Given the description of an element on the screen output the (x, y) to click on. 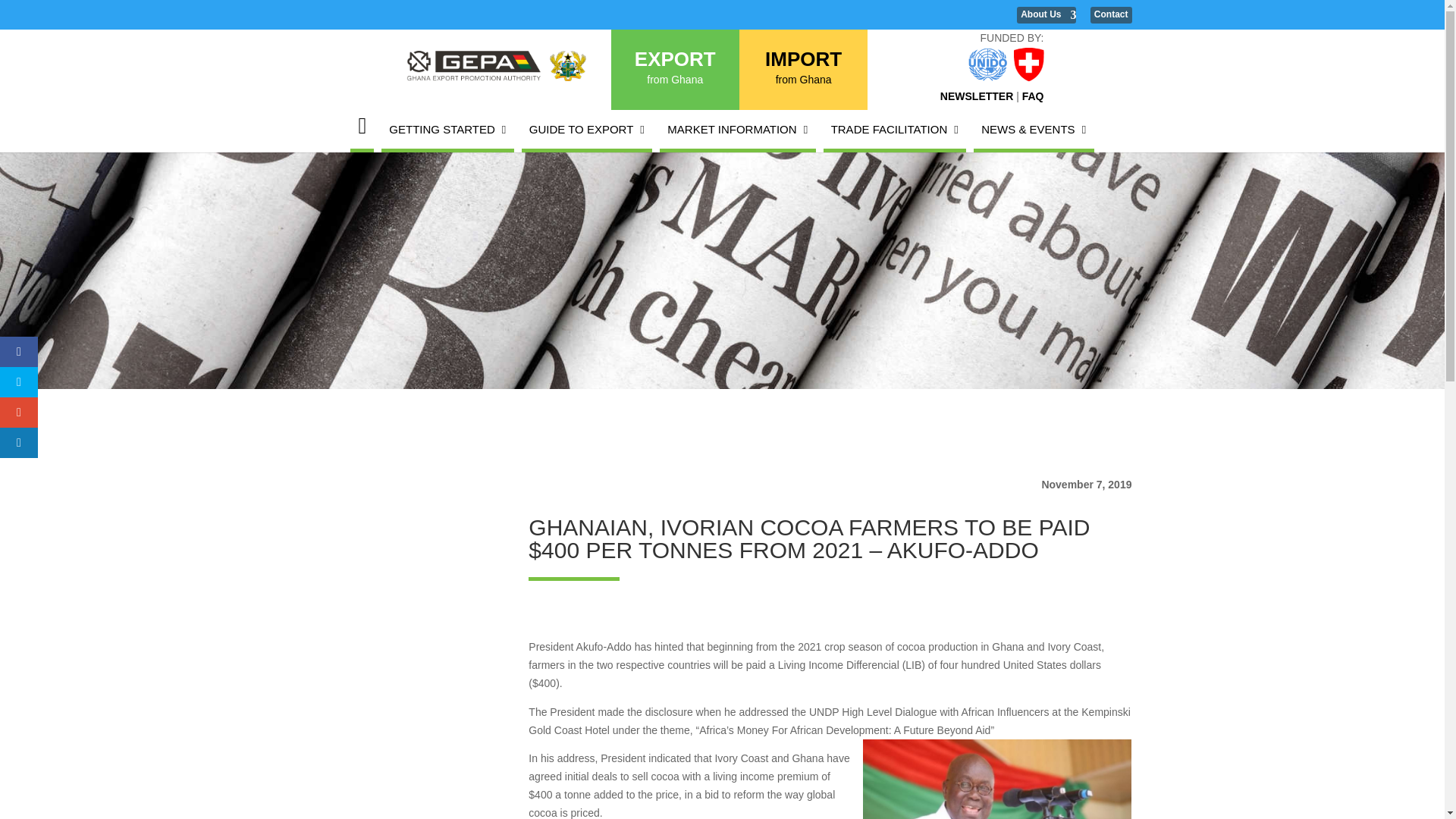
FAQ (1032, 96)
GETTING STARTED (675, 70)
NEWSLETTER (447, 128)
GUIDE TO EXPORT (976, 96)
MARKET INFORMATION (803, 70)
Contact (586, 128)
About Us (737, 128)
